Given the description of an element on the screen output the (x, y) to click on. 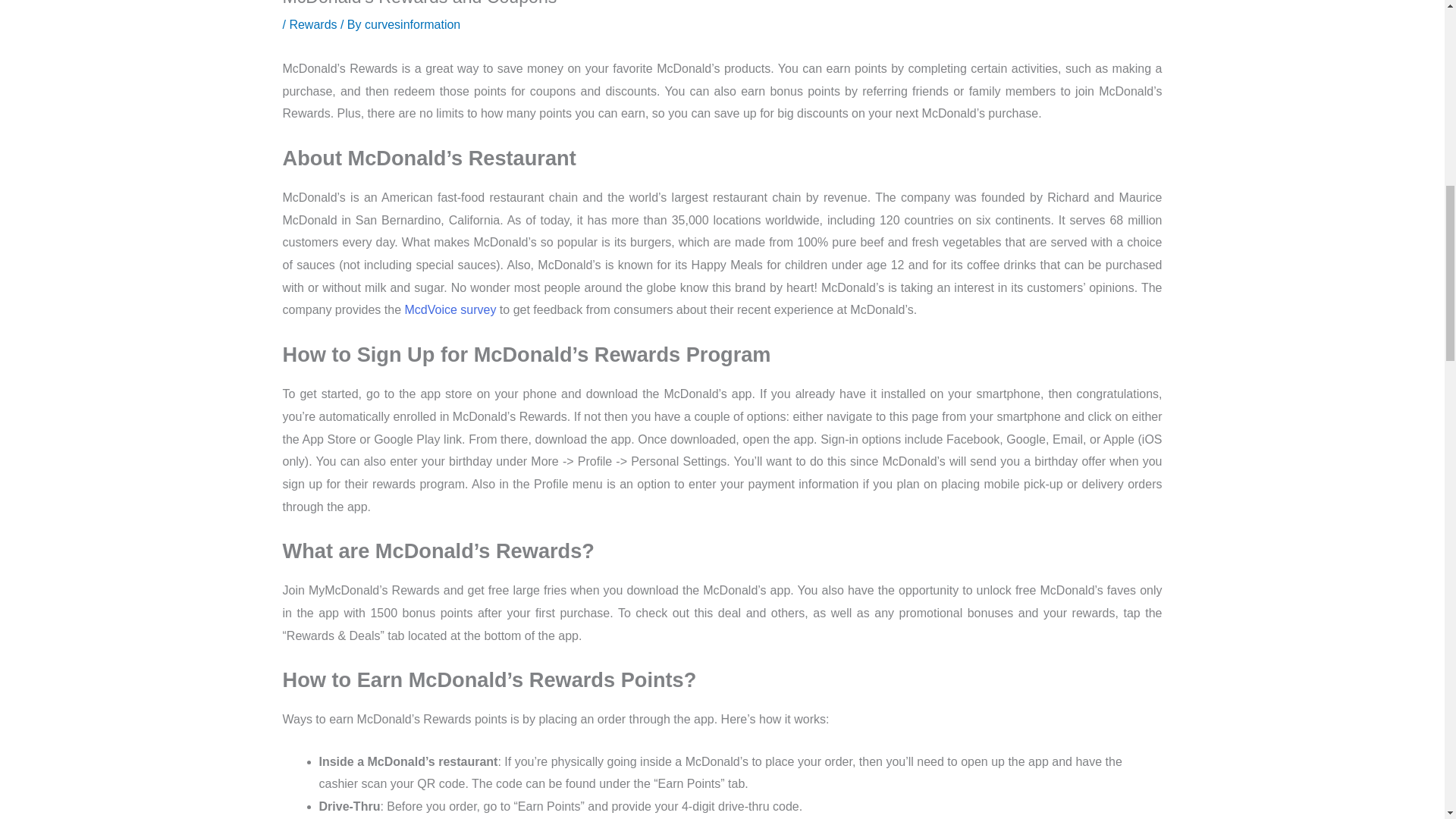
Rewards (312, 24)
curvesinformation (412, 24)
View all posts by curvesinformation (412, 24)
McdVoice survey (450, 309)
